Given the description of an element on the screen output the (x, y) to click on. 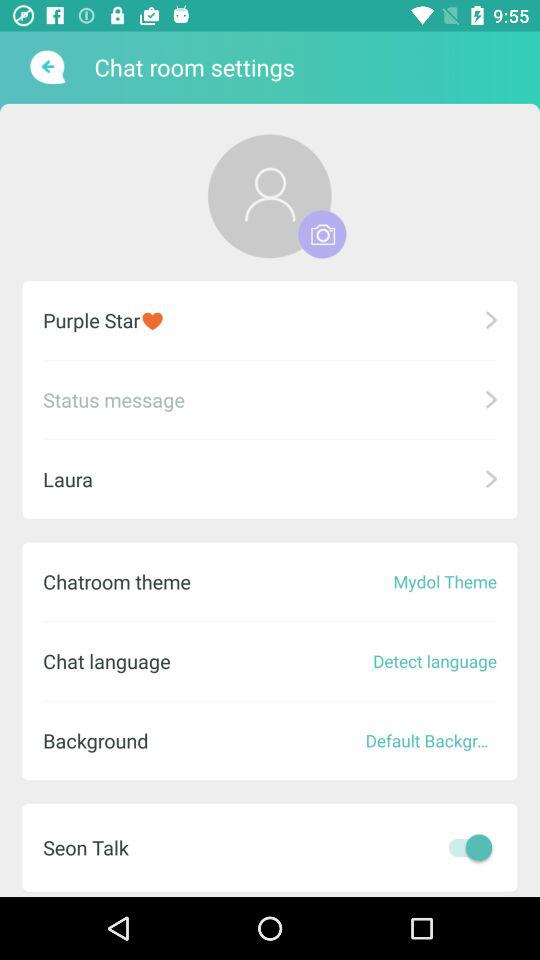
go back (45, 67)
